Given the description of an element on the screen output the (x, y) to click on. 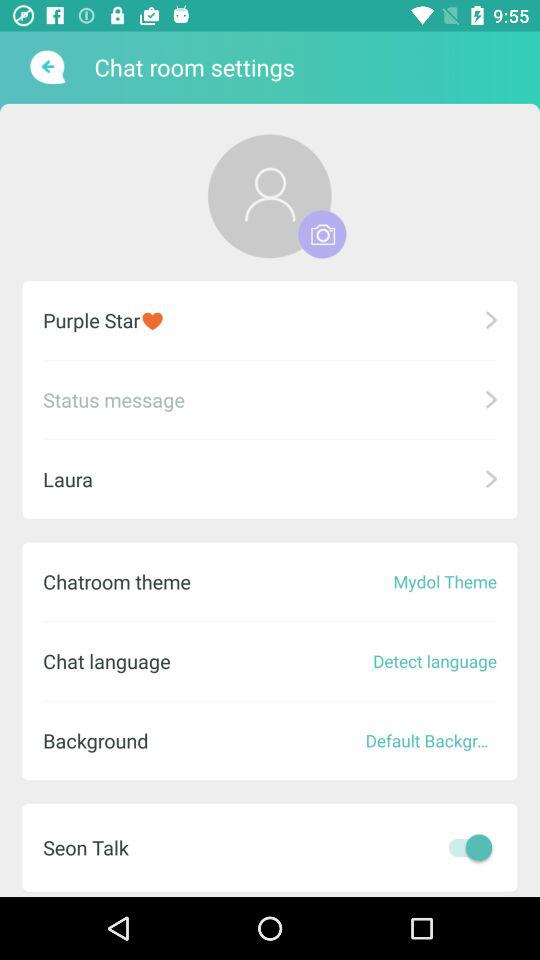
go back (45, 67)
